Given the description of an element on the screen output the (x, y) to click on. 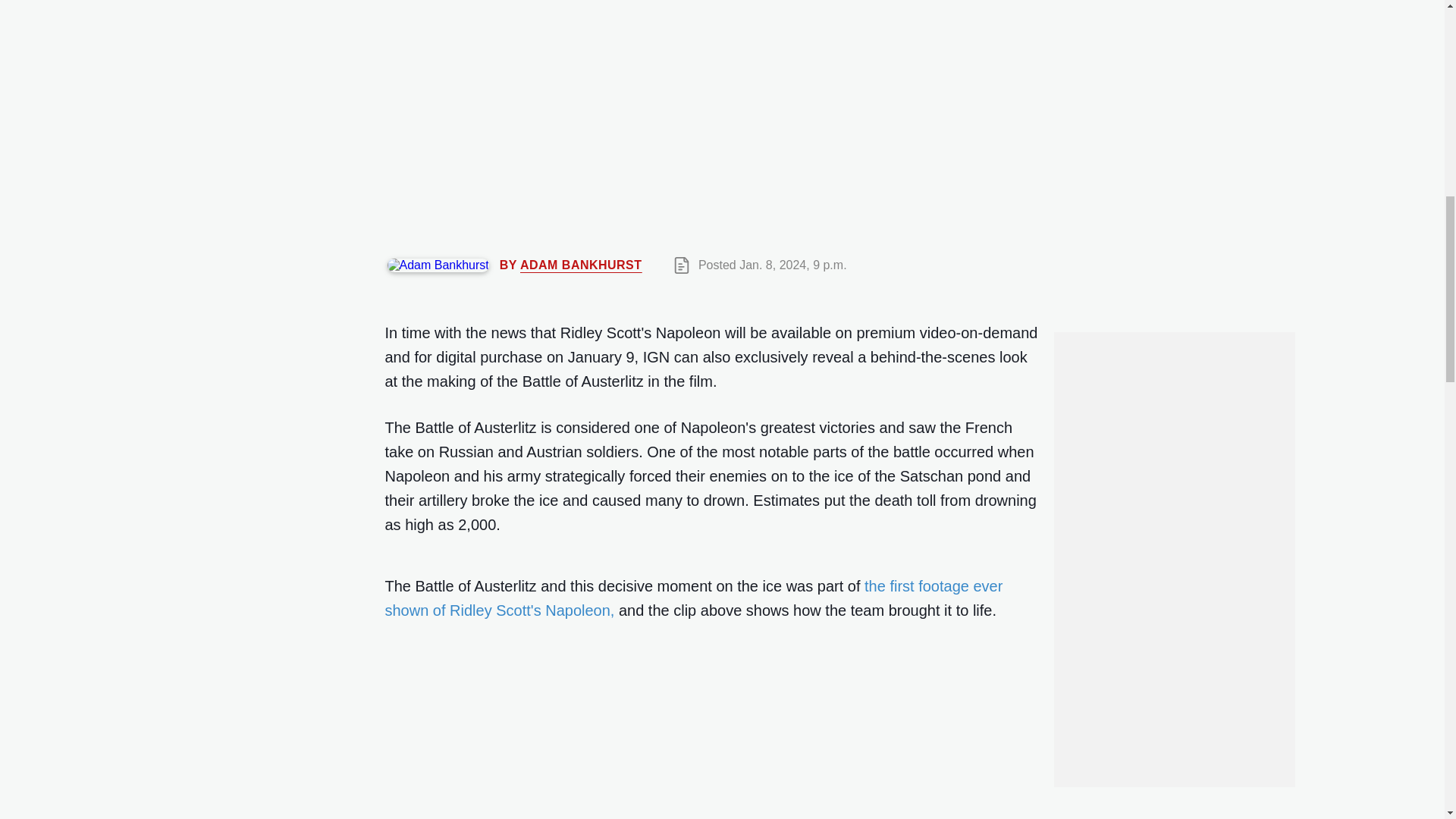
ADAM BANKHURST (580, 264)
the first footage ever shown of Ridley Scott's Napoleon, (694, 598)
